Given the description of an element on the screen output the (x, y) to click on. 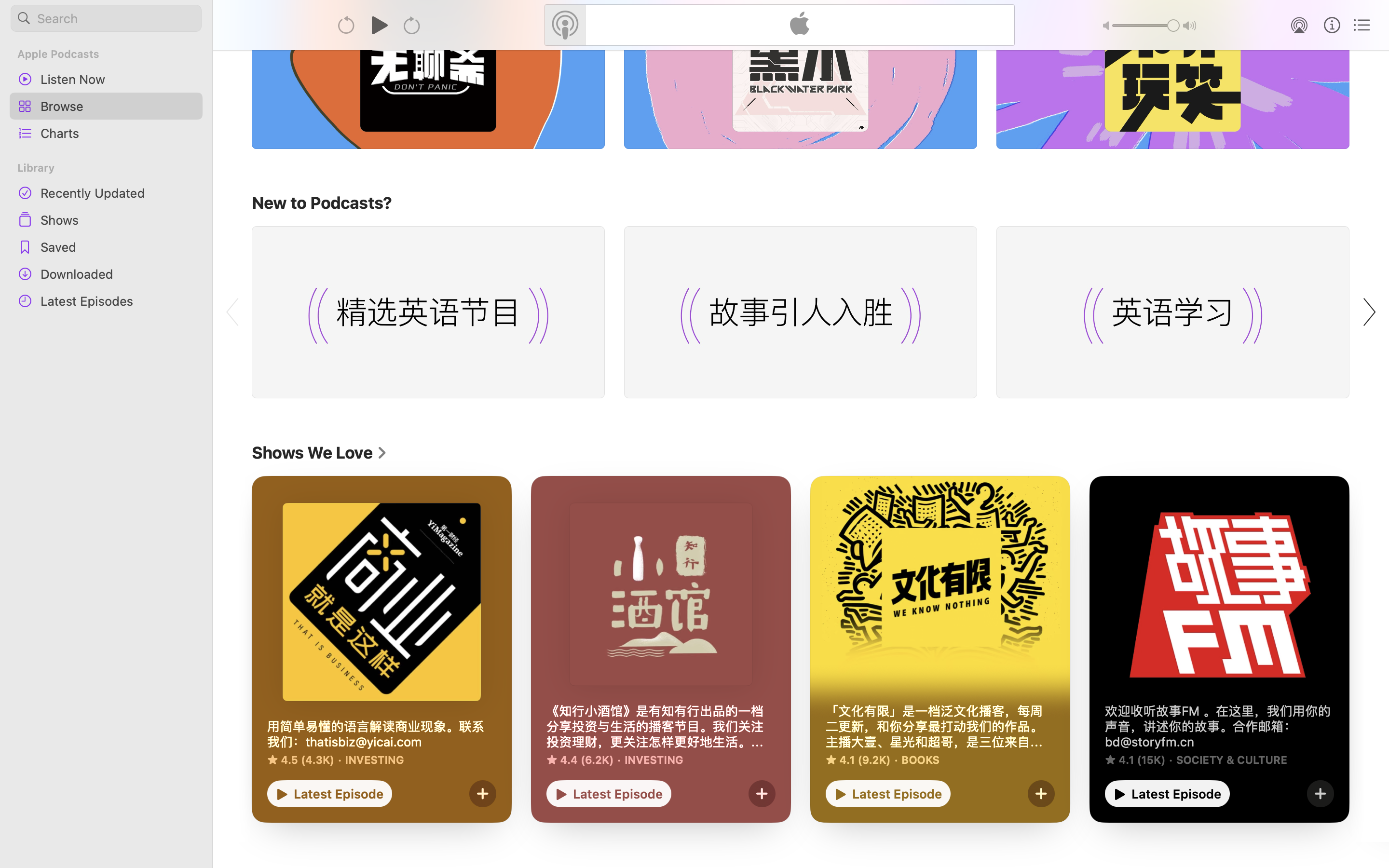
1.0 Element type: AXSlider (1145, 25)
